Given the description of an element on the screen output the (x, y) to click on. 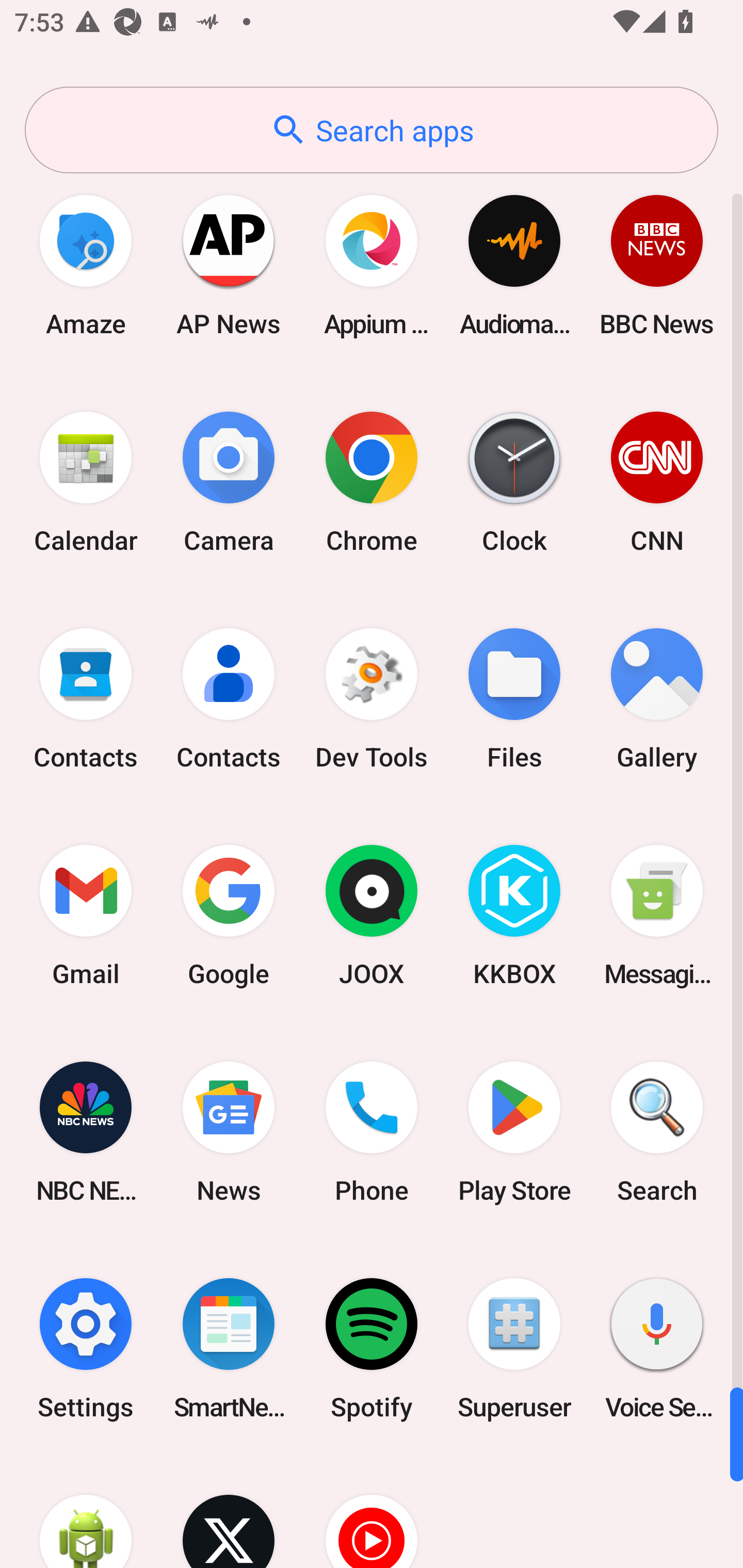
  Search apps (371, 130)
Amaze (85, 264)
AP News (228, 264)
Appium Settings (371, 264)
Audio­mack (514, 264)
BBC News (656, 264)
Calendar (85, 482)
Camera (228, 482)
Chrome (371, 482)
Clock (514, 482)
CNN (656, 482)
Contacts (85, 699)
Contacts (228, 699)
Dev Tools (371, 699)
Files (514, 699)
Gallery (656, 699)
Gmail (85, 915)
Google (228, 915)
JOOX (371, 915)
KKBOX (514, 915)
Messaging (656, 915)
NBC NEWS (85, 1131)
News (228, 1131)
Phone (371, 1131)
Play Store (514, 1131)
Search (656, 1131)
Settings (85, 1348)
SmartNews (228, 1348)
Spotify (371, 1348)
Superuser (514, 1348)
Voice Search (656, 1348)
